Given the description of an element on the screen output the (x, y) to click on. 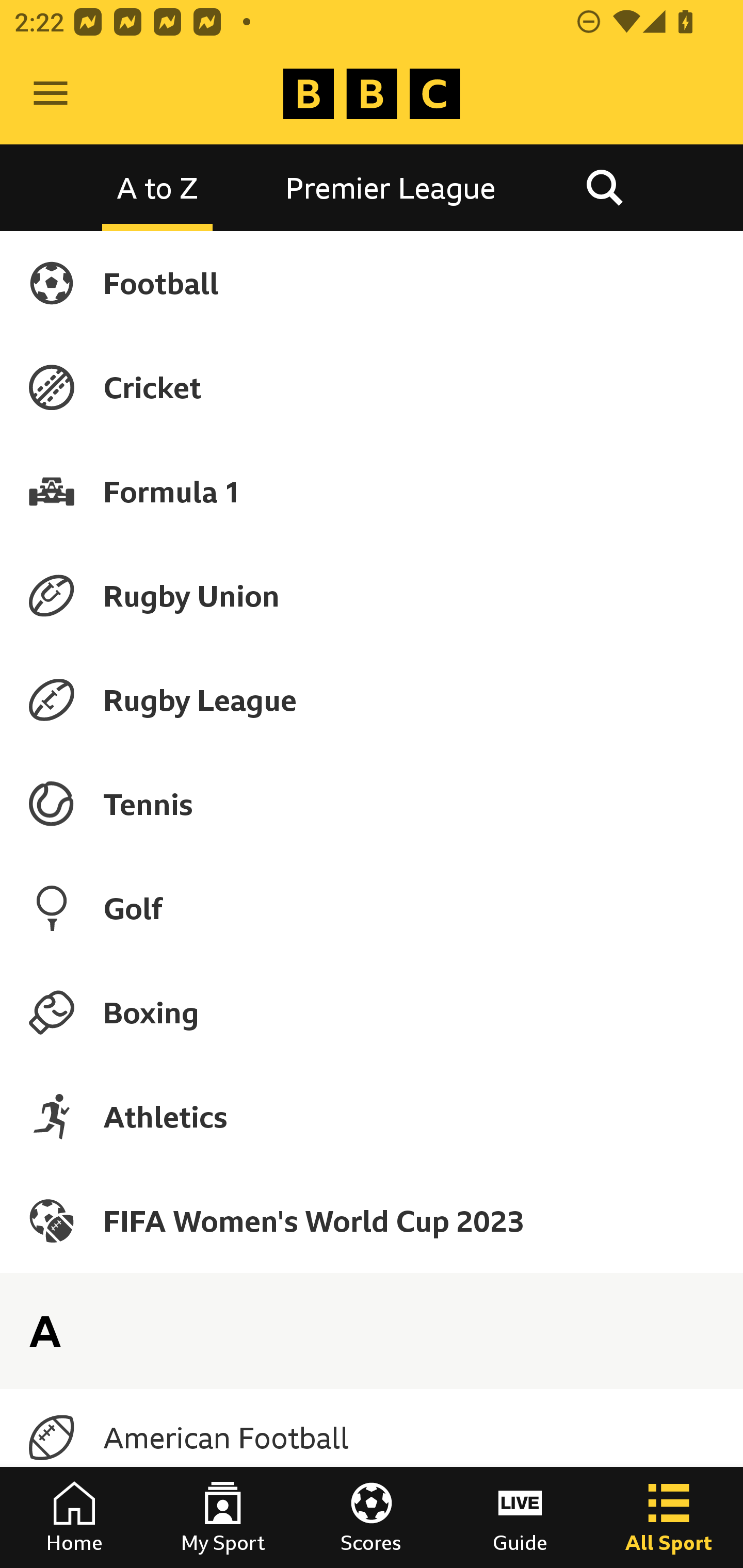
Open Menu (50, 93)
Premier League (390, 187)
Search (604, 187)
Football (371, 282)
Cricket (371, 387)
Formula 1 (371, 491)
Rugby Union (371, 595)
Rugby League (371, 699)
Tennis (371, 804)
Golf (371, 907)
Boxing (371, 1011)
Athletics (371, 1116)
FIFA Women's World Cup 2023 (371, 1220)
American Football (371, 1437)
Home (74, 1517)
My Sport (222, 1517)
Scores (371, 1517)
Guide (519, 1517)
